Given the description of an element on the screen output the (x, y) to click on. 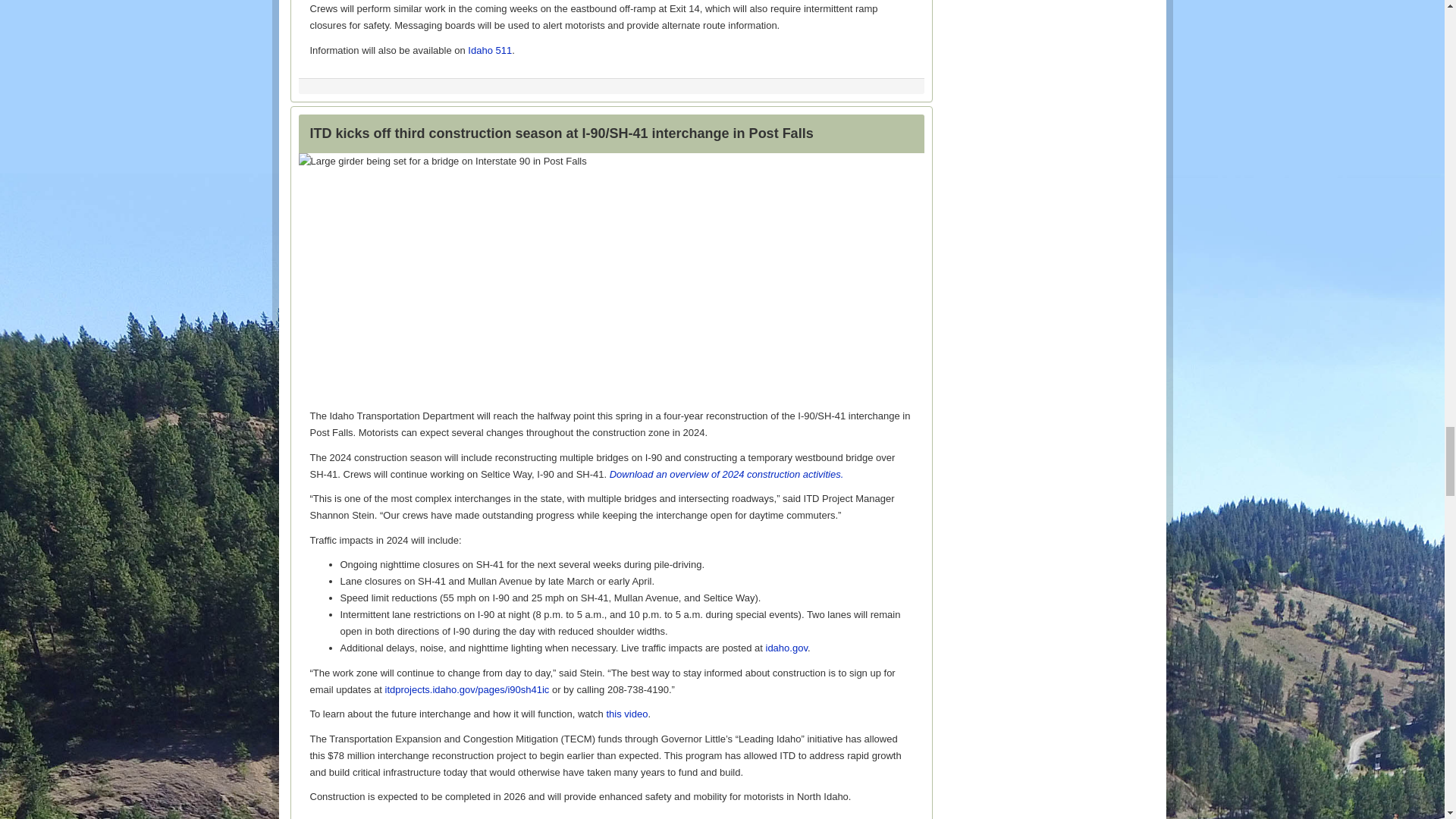
this video (626, 713)
Idaho 511 (489, 49)
Download an overview of 2024 construction activities. (727, 473)
idaho.gov (786, 647)
